Given the description of an element on the screen output the (x, y) to click on. 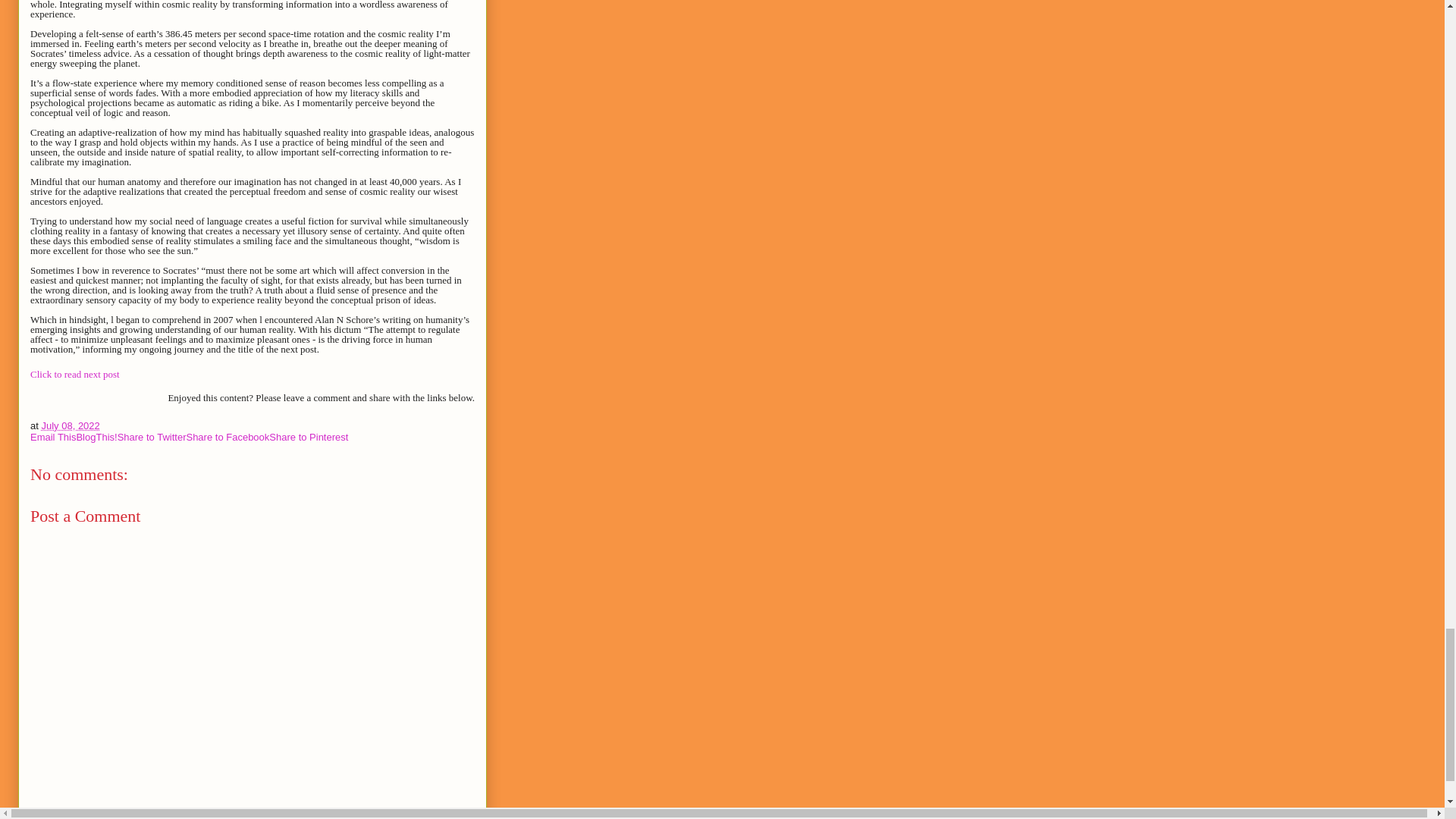
Share to Pinterest (308, 437)
BlogThis! (95, 437)
BlogThis! (95, 437)
Share to Twitter (151, 437)
Email This (52, 437)
Email This (52, 437)
Share to Facebook (227, 437)
Click to read next post (74, 374)
permanent link (69, 425)
July 08, 2022 (69, 425)
